Given the description of an element on the screen output the (x, y) to click on. 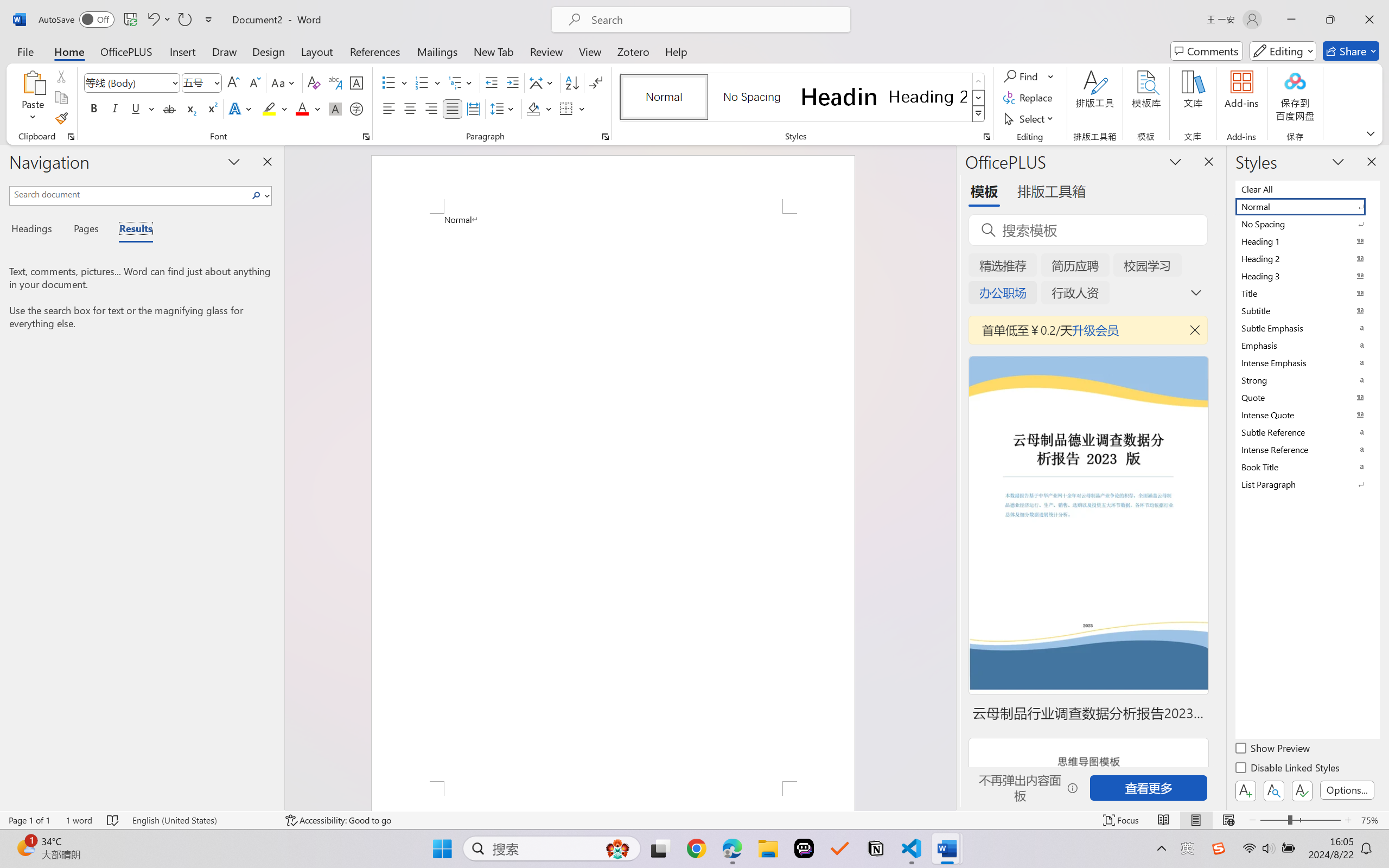
No Spacing (1306, 223)
Subtle Emphasis (1306, 327)
Styles (978, 113)
Align Left (388, 108)
Design (268, 51)
Show/Hide Editing Marks (595, 82)
Headings (35, 229)
Home (69, 51)
Line and Paragraph Spacing (503, 108)
Undo Apply Quick Style (152, 19)
Borders (566, 108)
Restore Down (1330, 19)
Repeat Doc Close (184, 19)
